Given the description of an element on the screen output the (x, y) to click on. 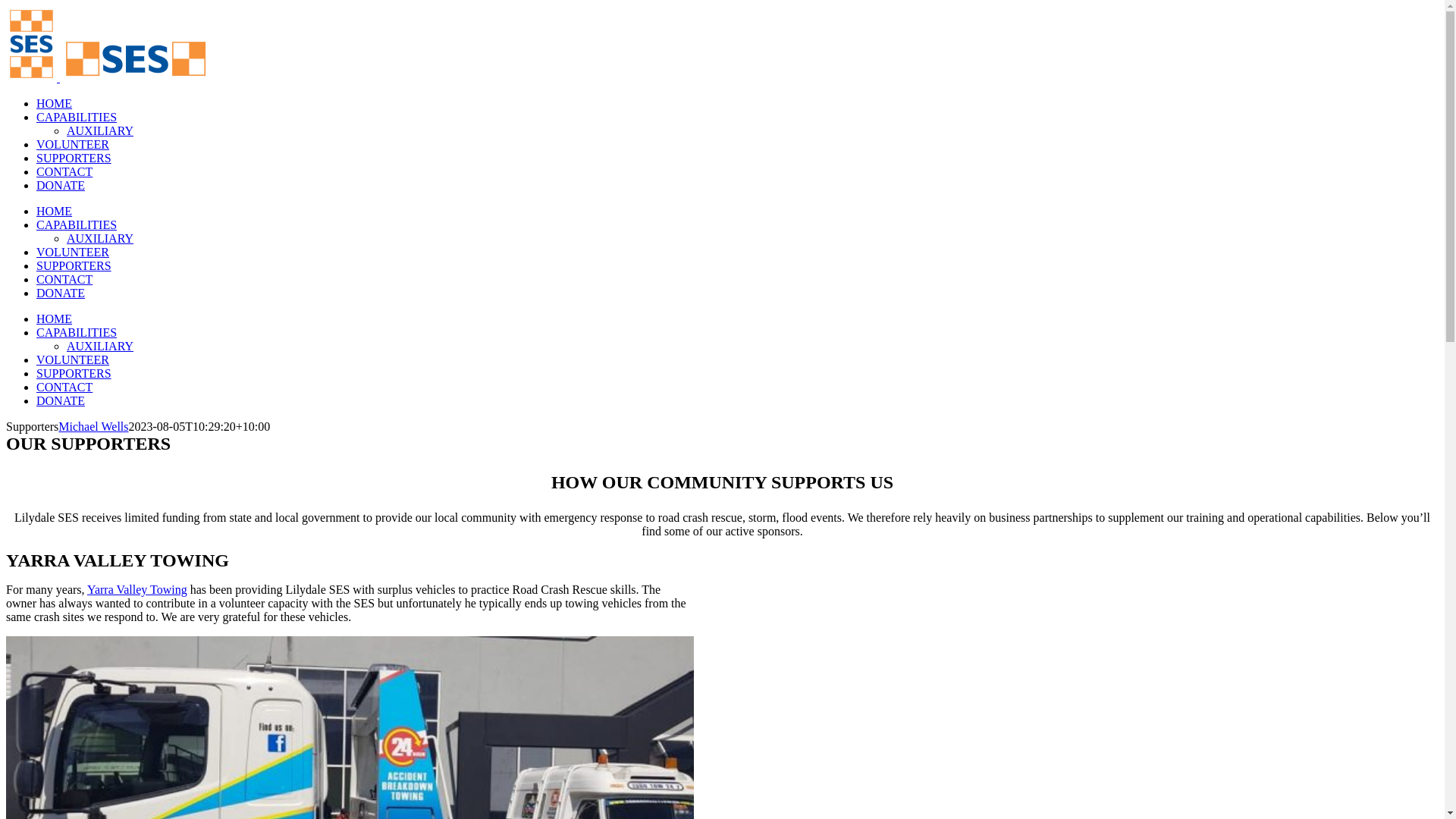
DONATE Element type: text (60, 184)
VOLUNTEER Element type: text (72, 144)
AUXILIARY Element type: text (99, 130)
VOLUNTEER Element type: text (72, 251)
CAPABILITIES Element type: text (76, 224)
CONTACT Element type: text (64, 386)
SUPPORTERS Element type: text (73, 265)
SUPPORTERS Element type: text (73, 373)
CONTACT Element type: text (64, 279)
CAPABILITIES Element type: text (76, 332)
CONTACT Element type: text (64, 171)
HOME Element type: text (54, 210)
AUXILIARY Element type: text (99, 345)
Yarra Valley Towing Element type: text (137, 589)
Skip to content Element type: text (5, 5)
HOME Element type: text (54, 103)
AUXILIARY Element type: text (99, 238)
HOME Element type: text (54, 318)
SUPPORTERS Element type: text (73, 157)
Michael Wells Element type: text (93, 426)
DONATE Element type: text (60, 400)
DONATE Element type: text (60, 292)
VOLUNTEER Element type: text (72, 359)
CAPABILITIES Element type: text (76, 116)
